Given the description of an element on the screen output the (x, y) to click on. 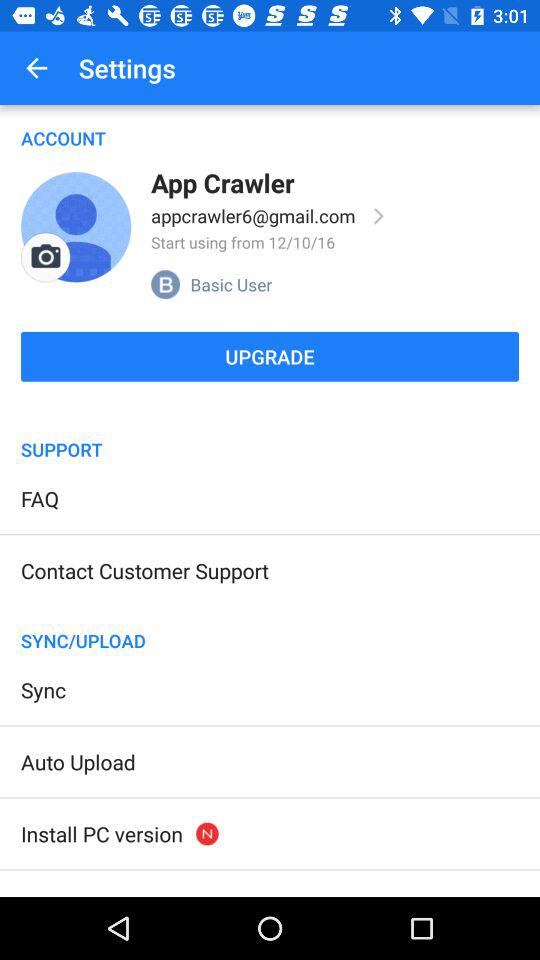
launch item above the upgrade icon (76, 227)
